Given the description of an element on the screen output the (x, y) to click on. 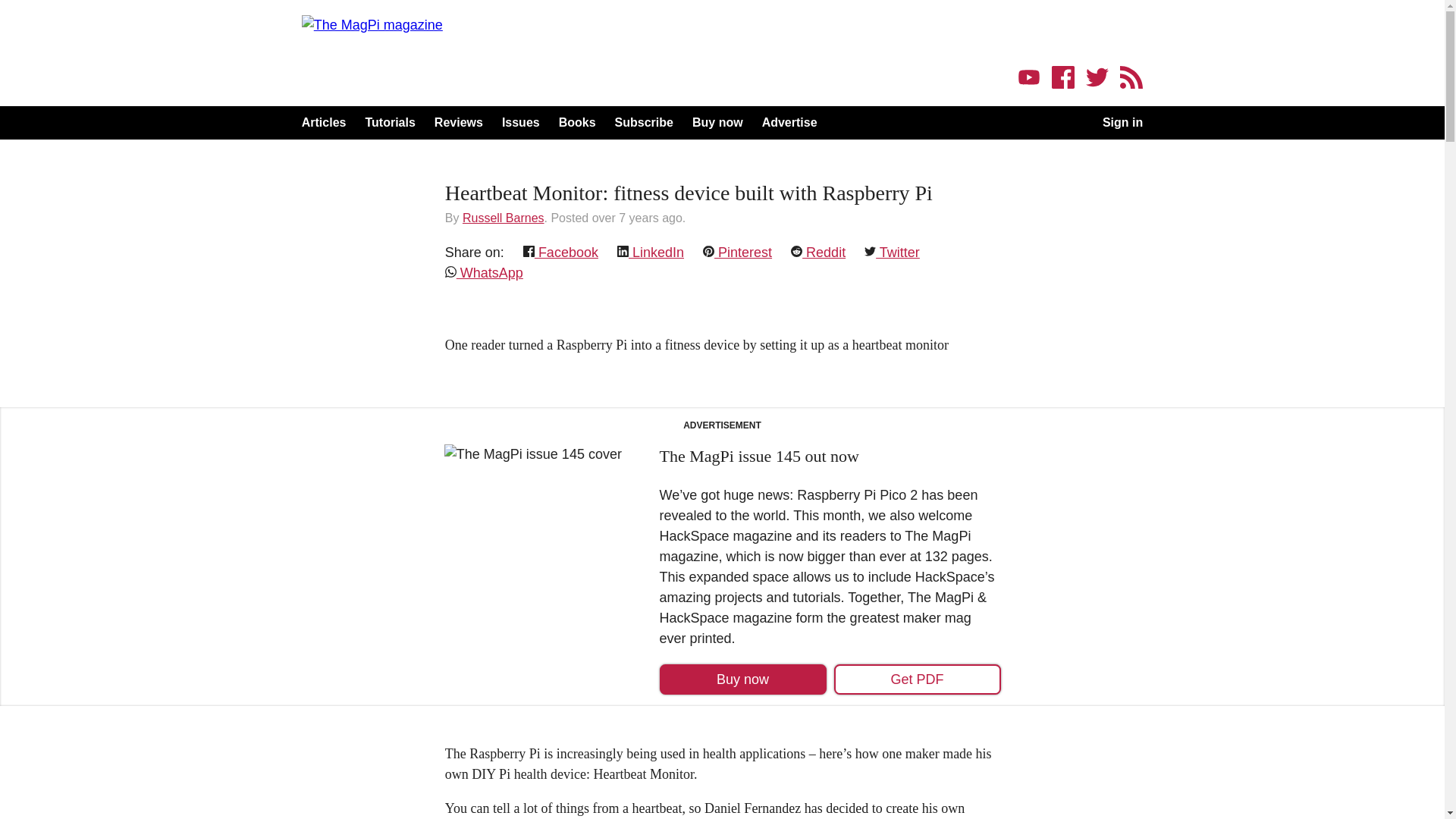
Russell Barnes (503, 217)
Issues (521, 122)
Follow The MagPi on Twitter (1097, 78)
Reviews (458, 122)
LinkedIn (650, 252)
Advertise (788, 122)
WhatsApp (483, 272)
Like The MagPi on Facebook (1062, 78)
Reddit (817, 252)
Facebook (560, 252)
